Given the description of an element on the screen output the (x, y) to click on. 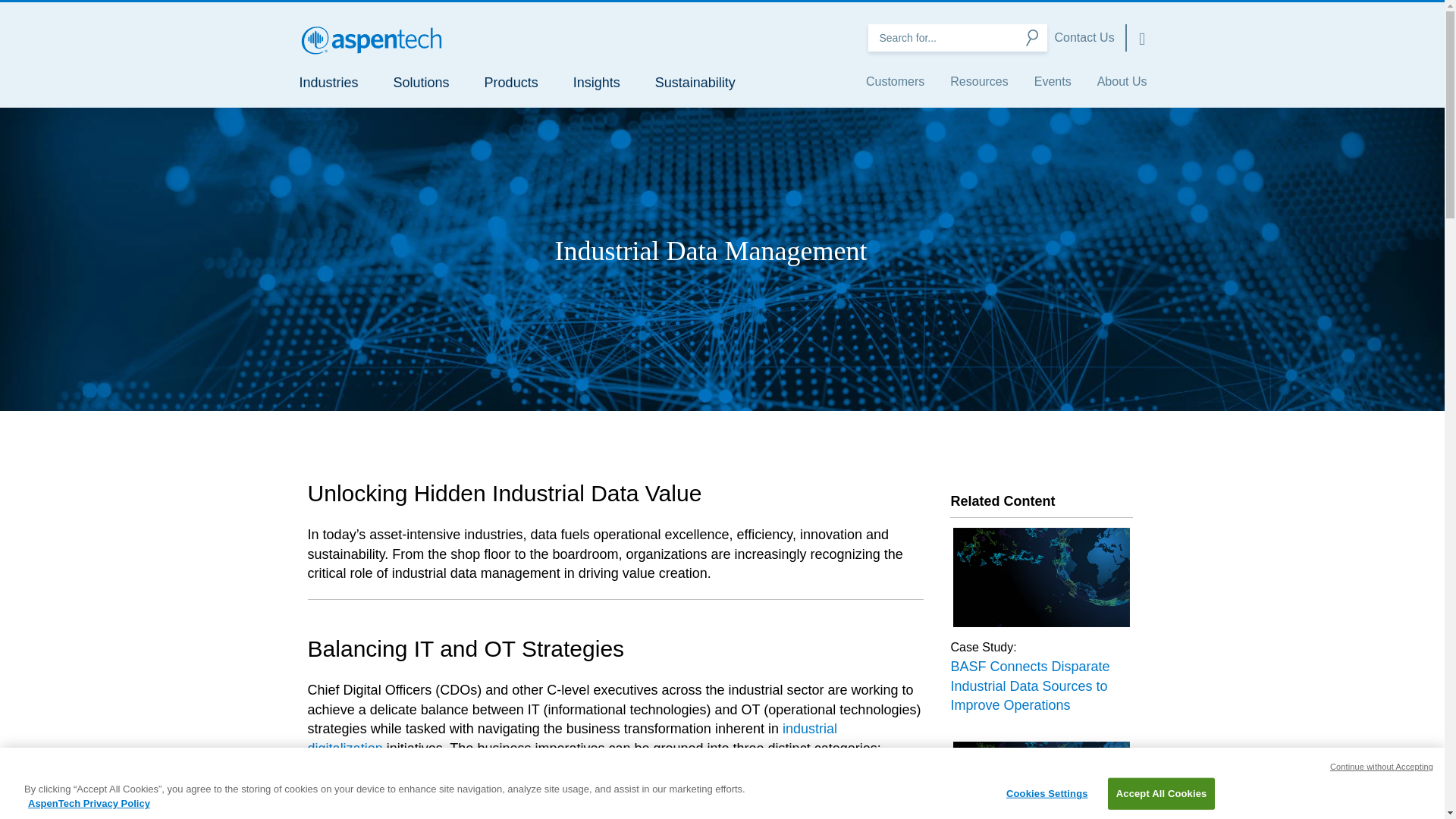
Search (1031, 37)
Industries (328, 82)
Products (511, 82)
Solutions (421, 82)
Contact Us (1083, 37)
